Given the description of an element on the screen output the (x, y) to click on. 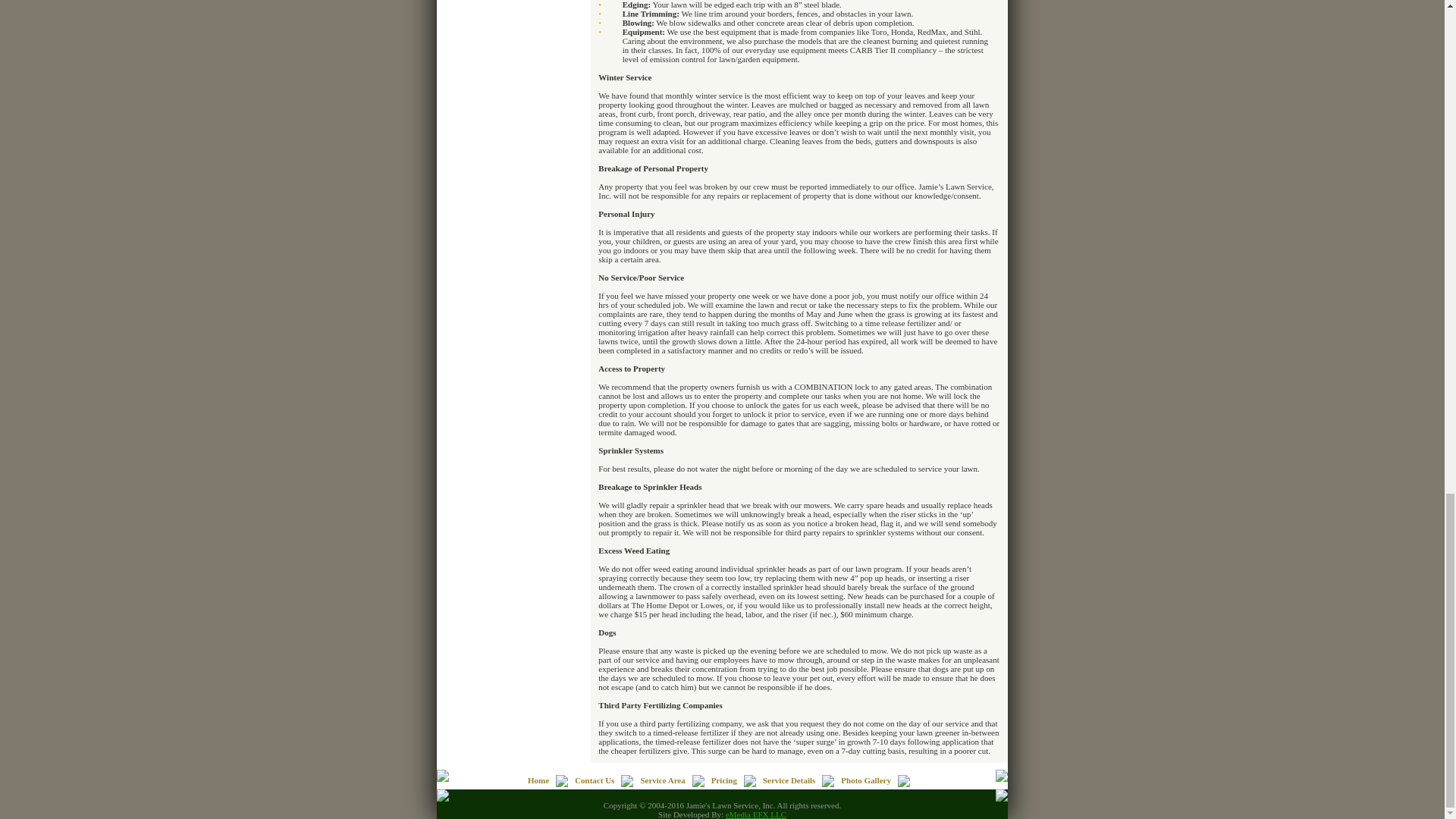
Home (537, 779)
Pricing (723, 779)
Service Details (788, 779)
Photo Gallery (866, 779)
Contact Us (594, 779)
Service Area (662, 779)
